Given the description of an element on the screen output the (x, y) to click on. 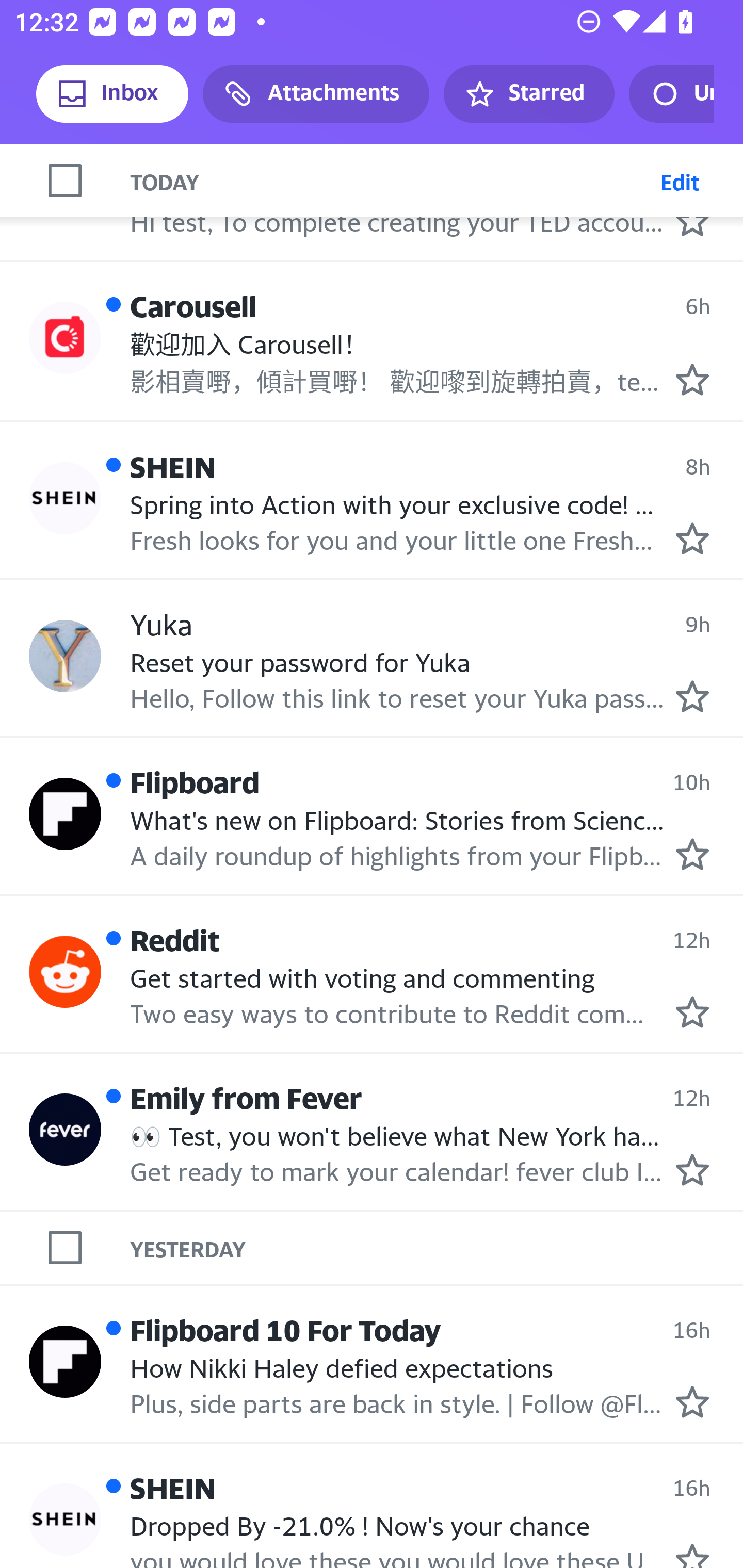
Attachments (315, 93)
Starred (528, 93)
Profile
TED (64, 180)
Profile
Carousell (64, 337)
Mark as starred. (692, 380)
Profile
SHEIN (64, 498)
Mark as starred. (692, 538)
Profile
Yuka (64, 655)
Mark as starred. (692, 696)
Profile
Flipboard (64, 813)
Mark as starred. (692, 853)
Profile
Reddit (64, 972)
Mark as starred. (692, 1012)
Profile
Emily from Fever (64, 1128)
Mark as starred. (692, 1170)
YESTERDAY (436, 1247)
Profile
Flipboard 10 For Today (64, 1360)
Mark as starred. (692, 1402)
Profile
SHEIN (64, 1519)
Mark as starred. (692, 1554)
